Given the description of an element on the screen output the (x, y) to click on. 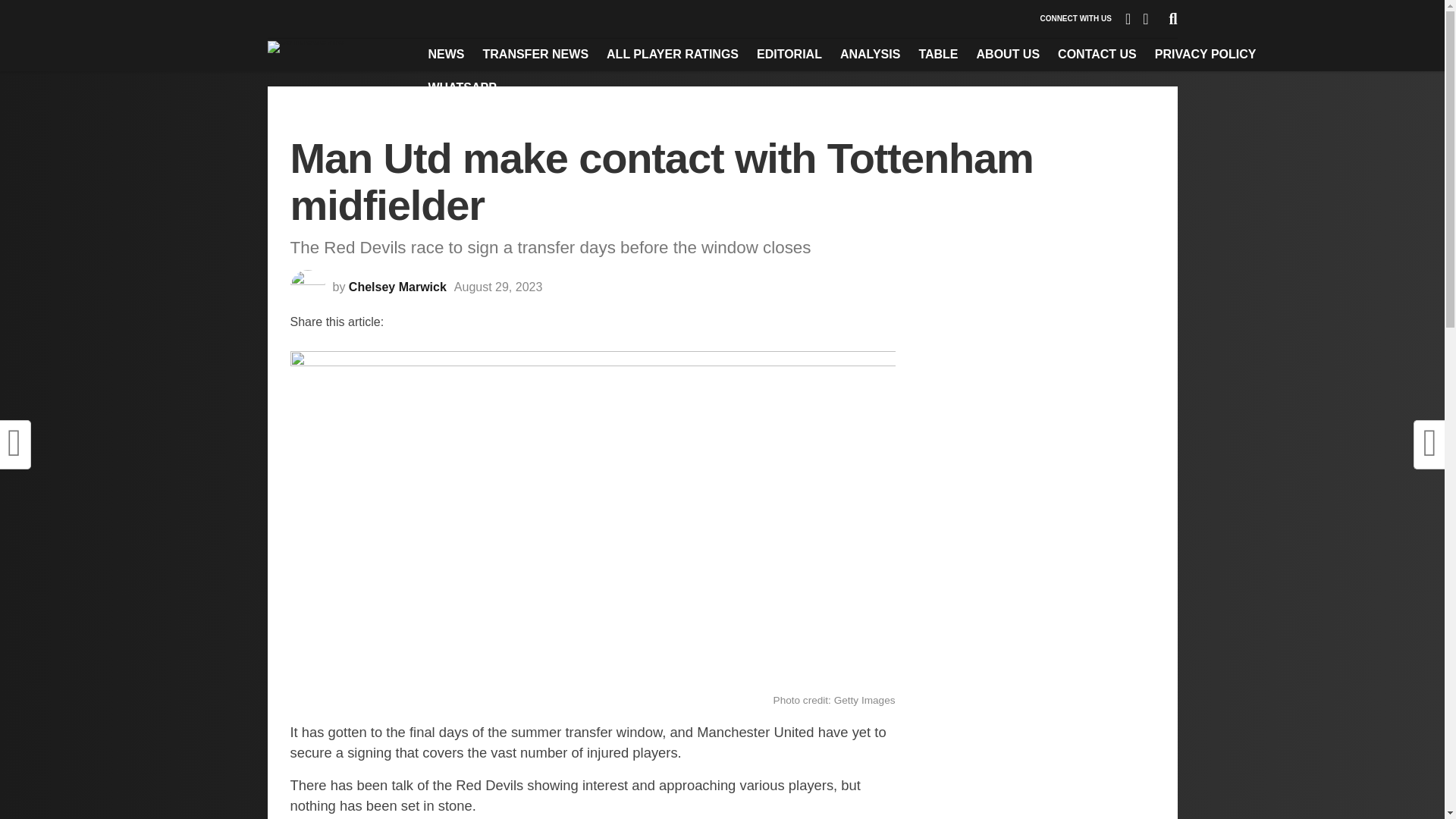
ABOUT US (1008, 54)
TRANSFER NEWS (534, 54)
CONTACT US (1096, 54)
EDITORIAL (789, 54)
NEWS (446, 54)
Posts by Chelsey Marwick (397, 286)
ALL PLAYER RATINGS (672, 54)
ANALYSIS (869, 54)
TABLE (937, 54)
PRIVACY POLICY (1205, 54)
